Given the description of an element on the screen output the (x, y) to click on. 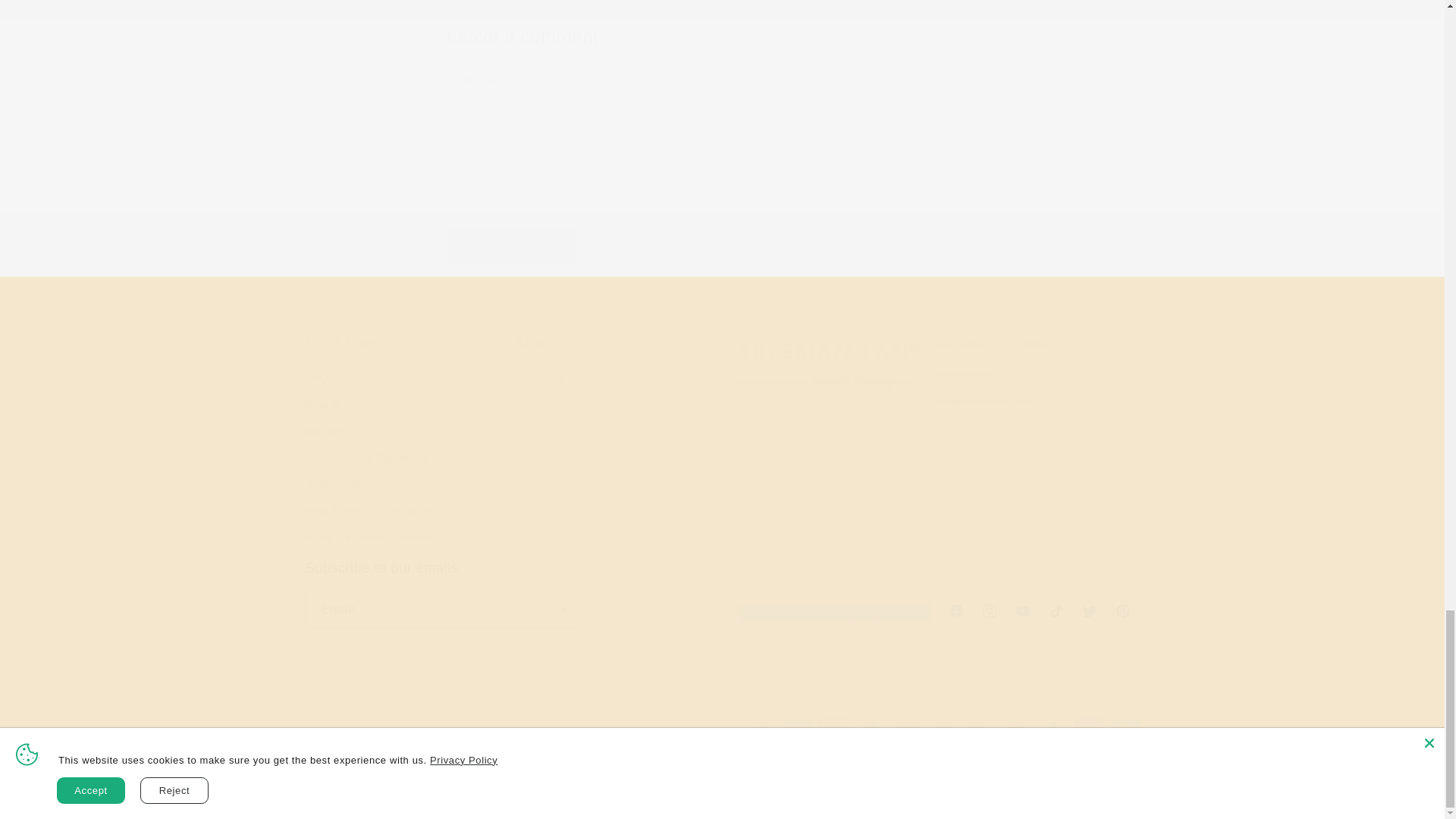
Post comment (510, 246)
